Given the description of an element on the screen output the (x, y) to click on. 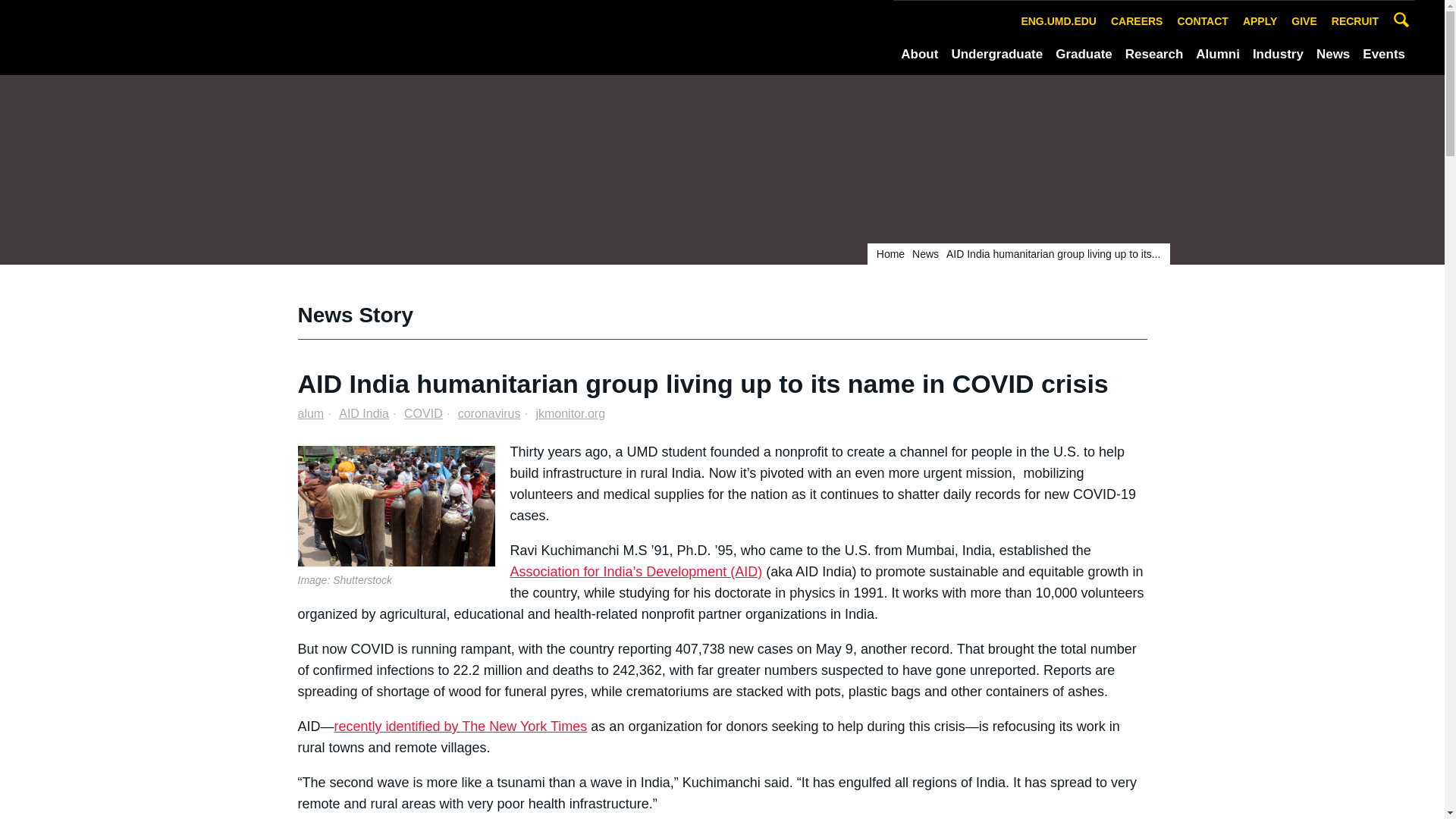
GIVE (1303, 22)
A. James Clark School of Engineering, University of Maryland (209, 36)
CAREERS (1136, 22)
APPLY (1259, 22)
Undergraduate (996, 54)
CONTACT (1202, 22)
About (919, 54)
RECRUIT (1355, 22)
ENG.UMD.EDU (1058, 22)
